Given the description of an element on the screen output the (x, y) to click on. 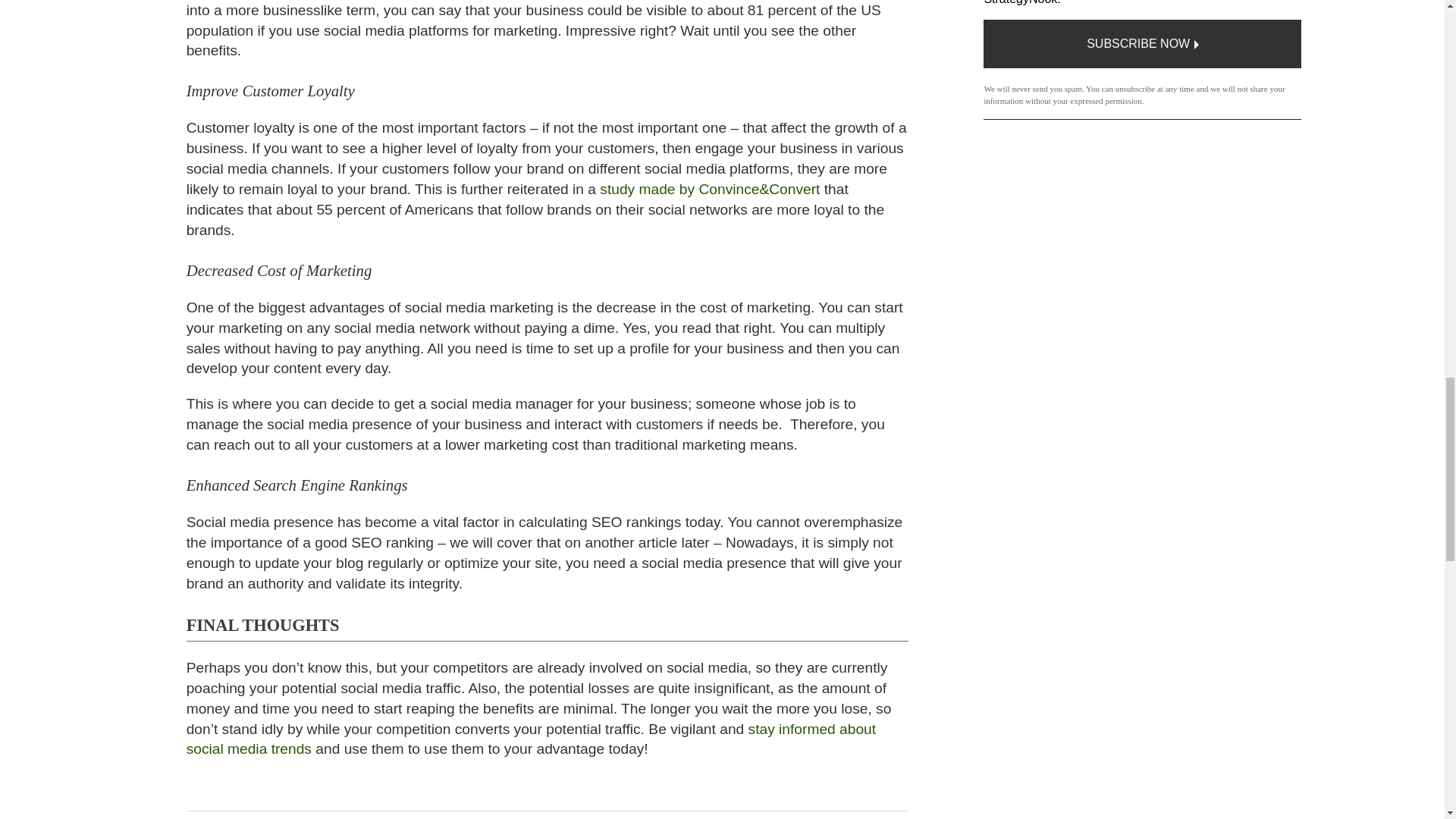
stay informed about social media trends (531, 738)
